Given the description of an element on the screen output the (x, y) to click on. 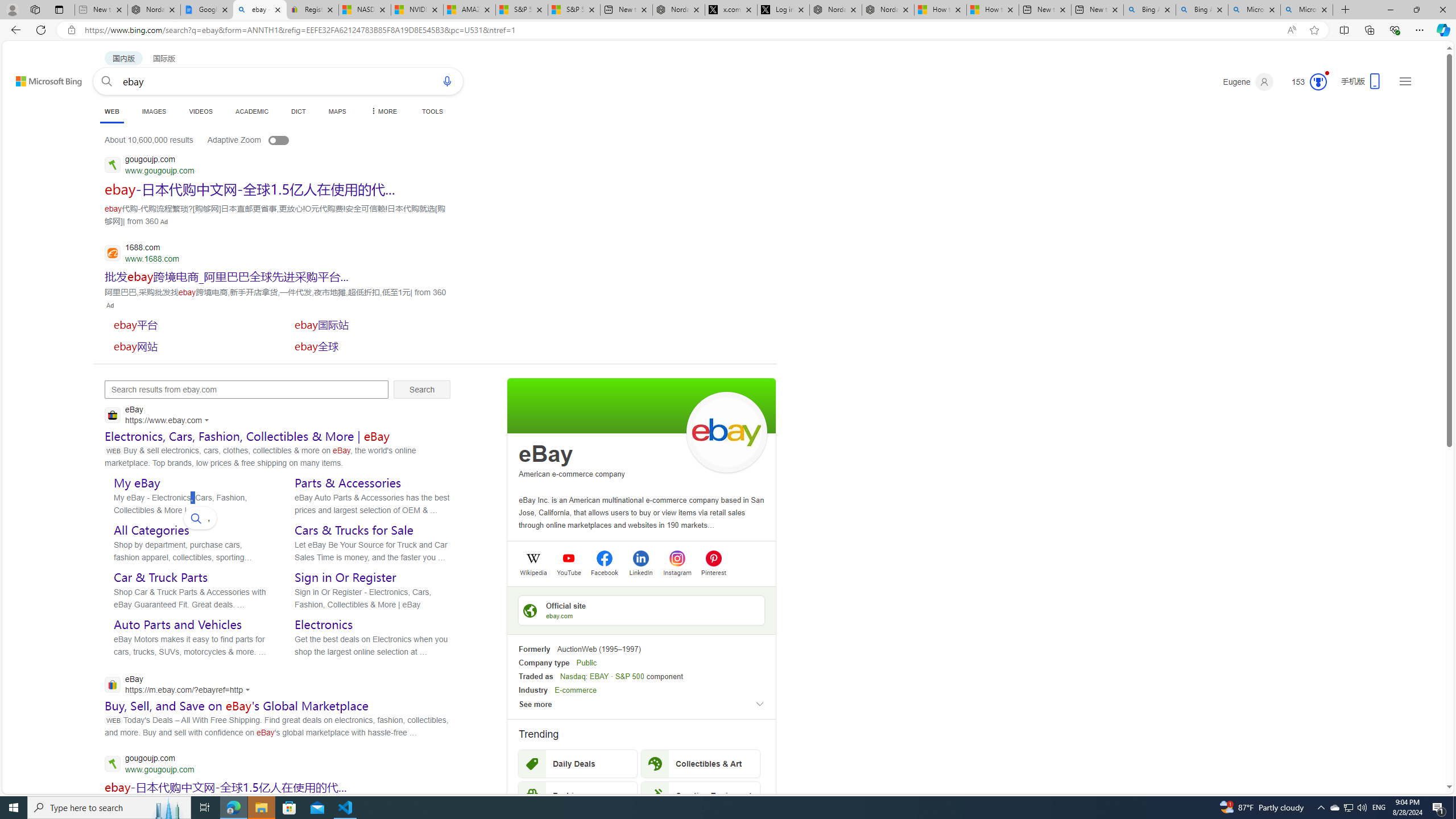
Microsoft Rewards 153 (1304, 81)
Register: Create a personal eBay account (312, 9)
Dropdown Menu (382, 111)
ACADEMIC (252, 111)
SERP,5714 (188, 345)
SERP,5713 (370, 324)
Sign in Or Register (345, 577)
WEB (111, 112)
VIDEOS (201, 111)
Class: medal-circled (1317, 81)
Public (586, 662)
